Given the description of an element on the screen output the (x, y) to click on. 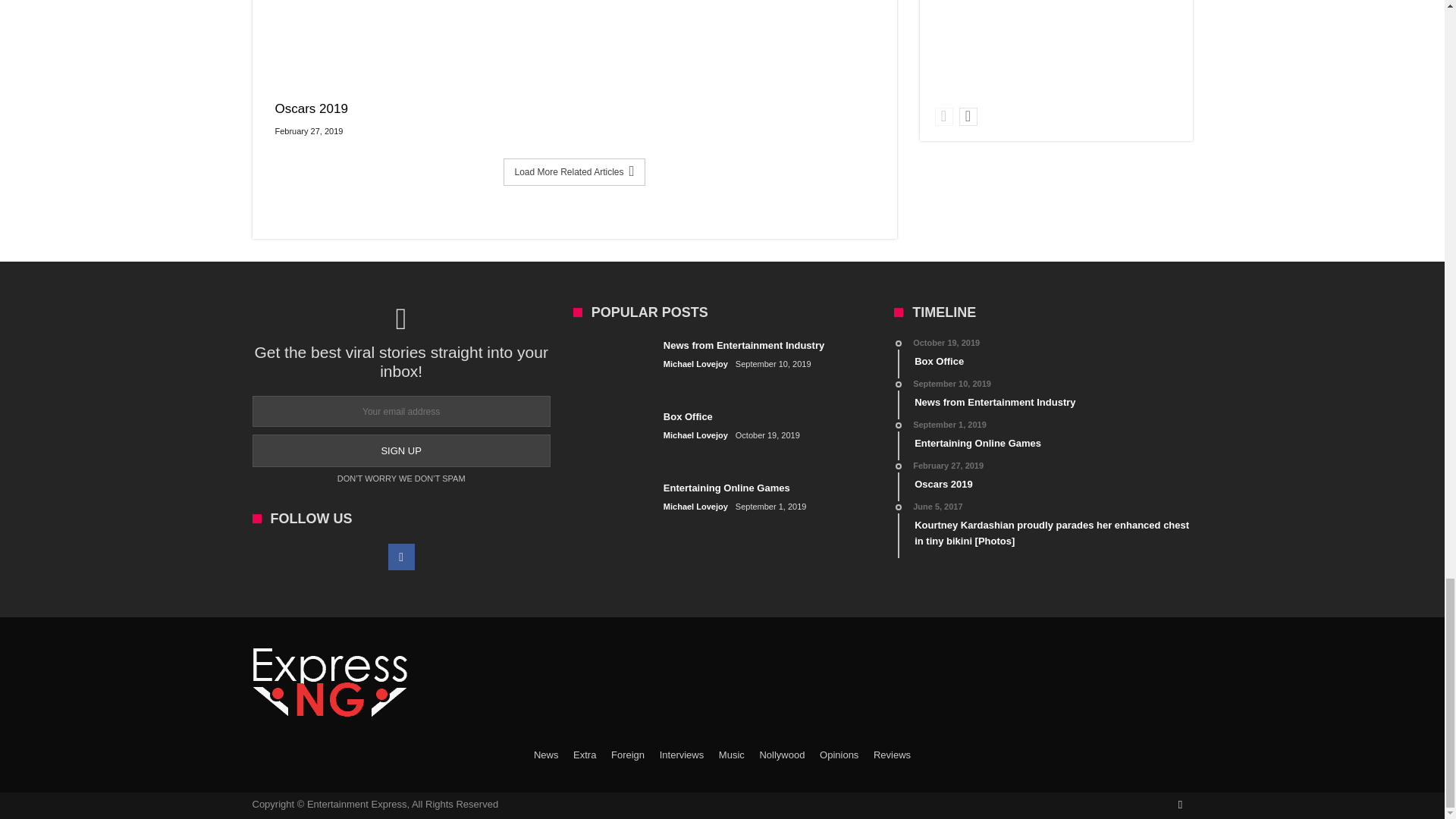
Sign up (400, 450)
Posts by Michael Lovejoy (695, 364)
Facebook (401, 557)
Posts by Michael Lovejoy (695, 435)
Posts by Michael Lovejoy (695, 506)
